Given the description of an element on the screen output the (x, y) to click on. 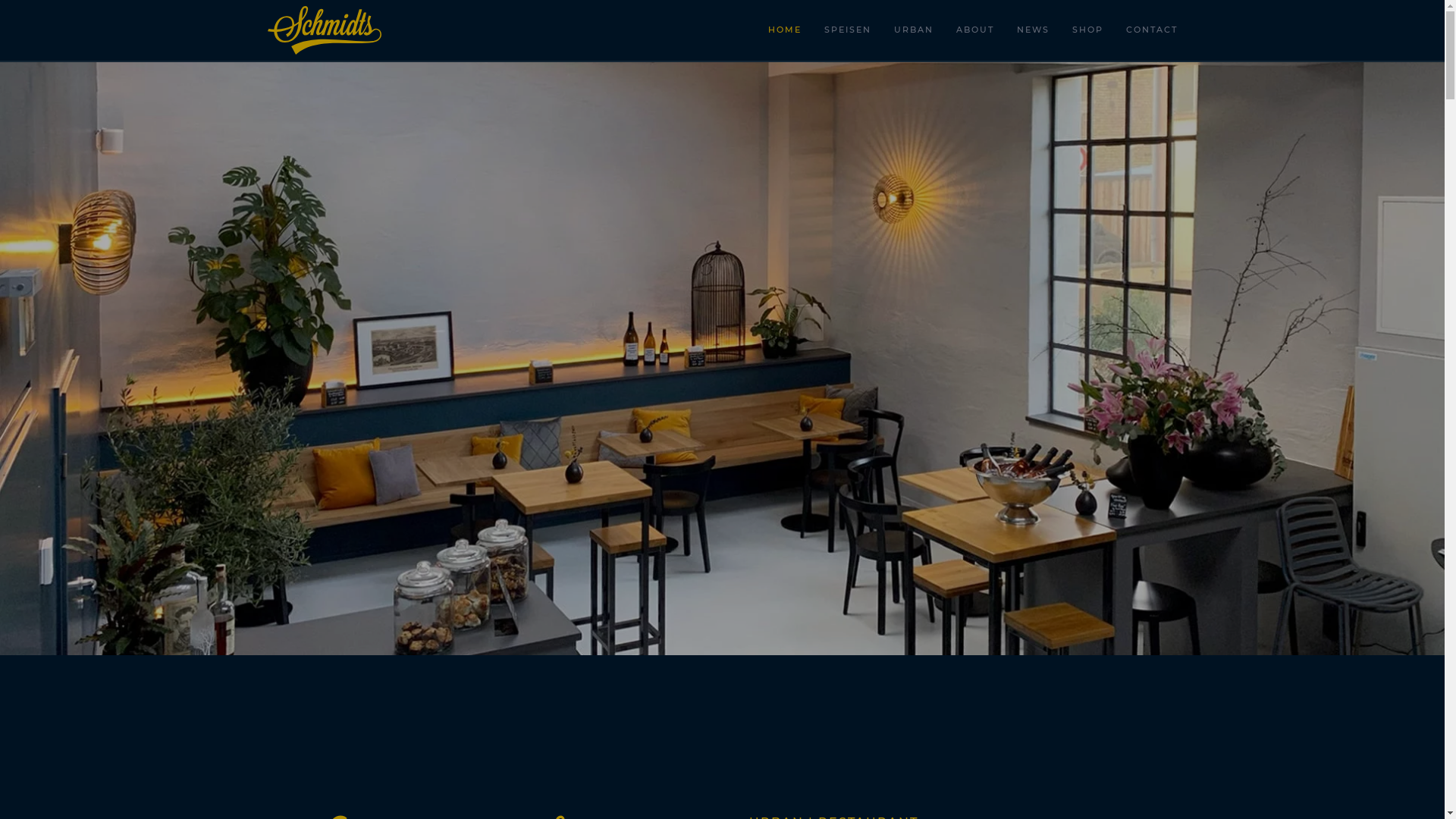
SPEISEN Element type: text (847, 30)
ABOUT Element type: text (974, 30)
CONTACT Element type: text (1151, 30)
NEWS Element type: text (1032, 30)
SHOP Element type: text (1086, 30)
HOME Element type: text (784, 30)
URBAN Element type: text (913, 30)
